Given the description of an element on the screen output the (x, y) to click on. 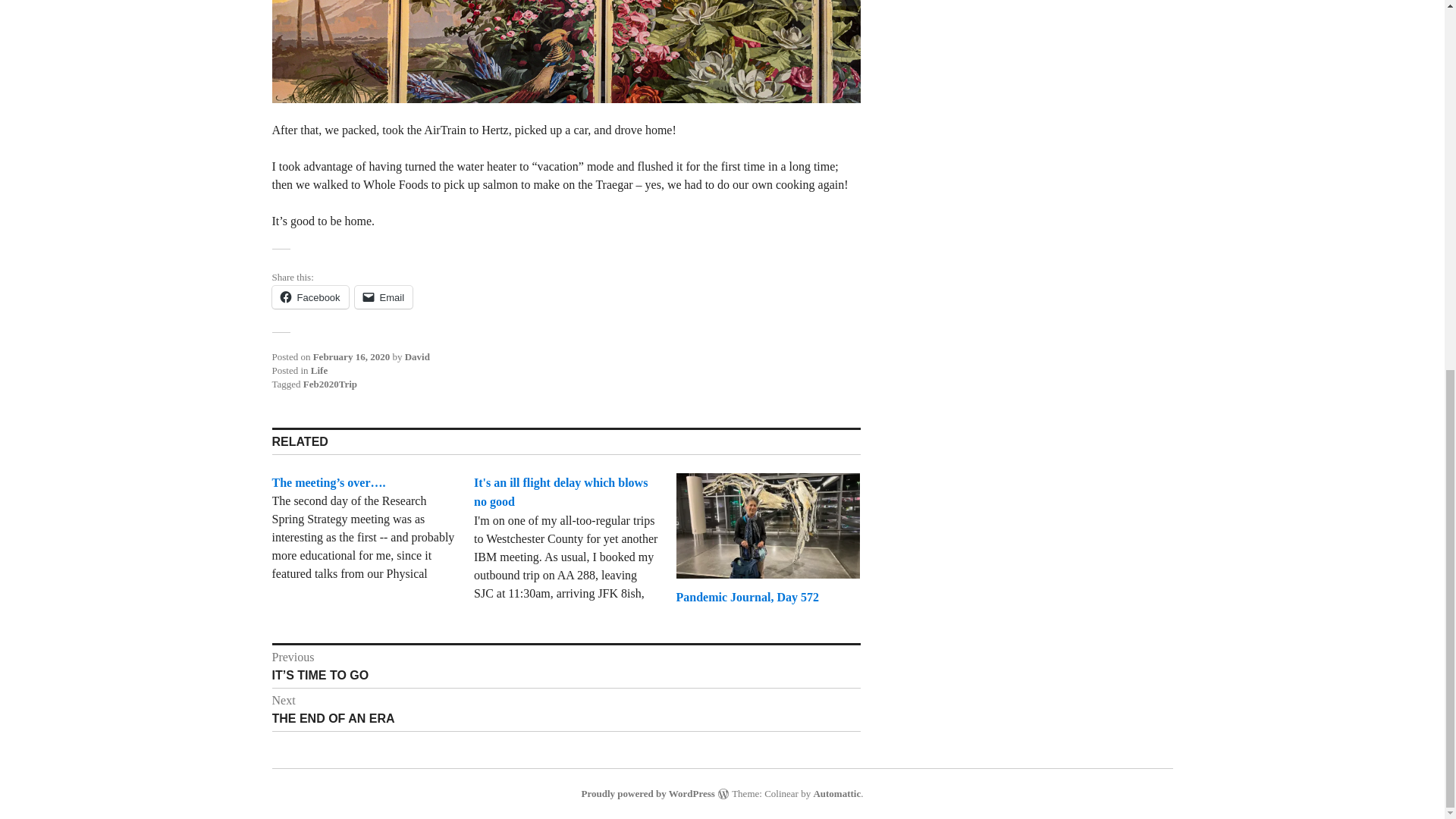
Feb2020Trip (329, 383)
Email (384, 296)
Life (319, 369)
Proudly powered by WordPress (647, 793)
Click to email a link to a friend (384, 296)
February 16, 2020 (565, 709)
Pandemic Journal, Day 572 (351, 356)
Pandemic Journal, Day 572 (747, 596)
David (747, 596)
Facebook (416, 356)
Automattic (308, 296)
It's an ill flight delay which blows no good (836, 793)
Click to share on Facebook (560, 491)
Pandemic Journal, Day 572 (308, 296)
